Given the description of an element on the screen output the (x, y) to click on. 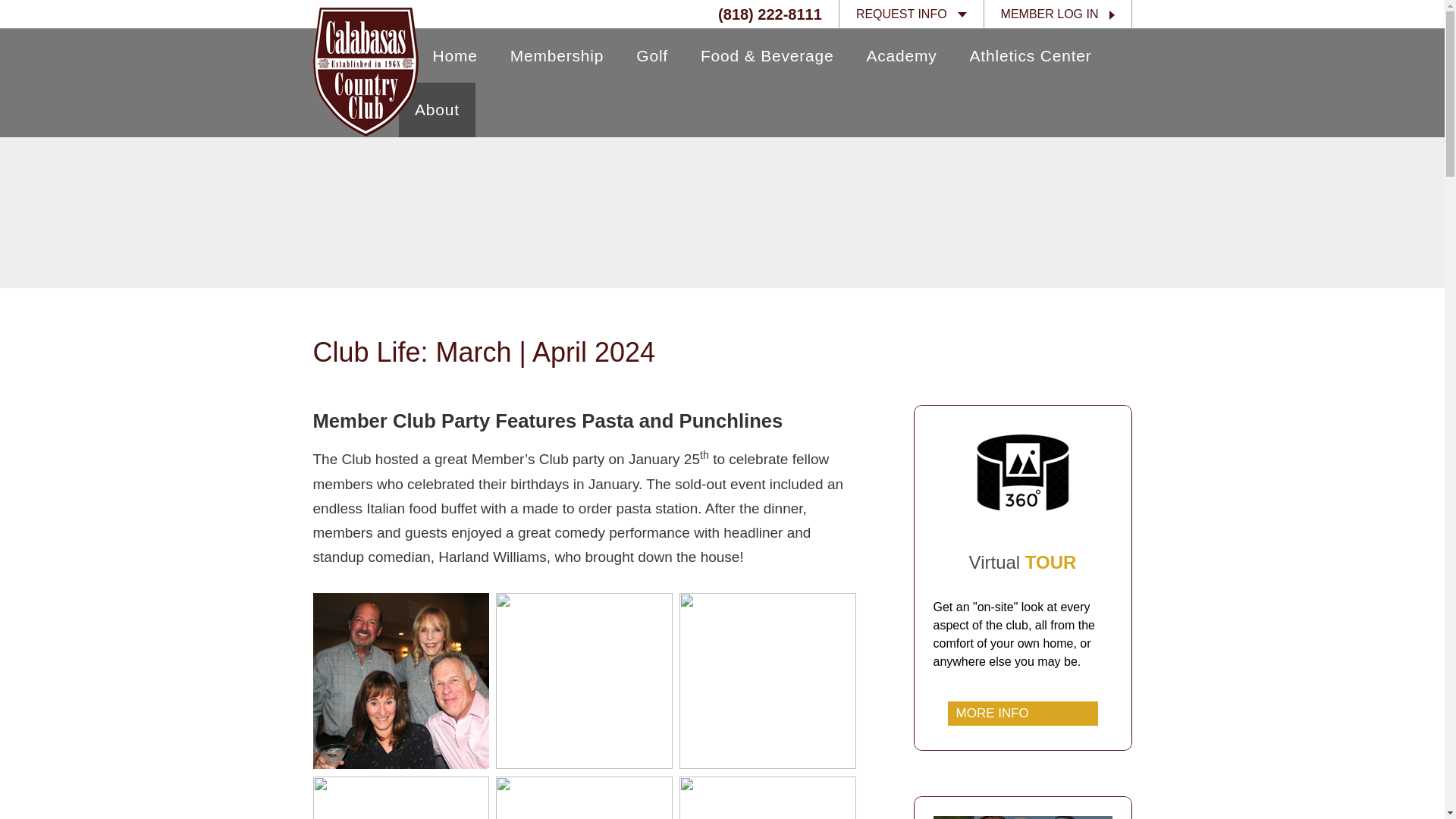
Golf (652, 55)
Membership (556, 55)
Academy (901, 55)
Home (446, 55)
MEMBER LOG IN (1058, 13)
Calabasas Country Club (365, 70)
REQUEST INFO (911, 13)
